Given the description of an element on the screen output the (x, y) to click on. 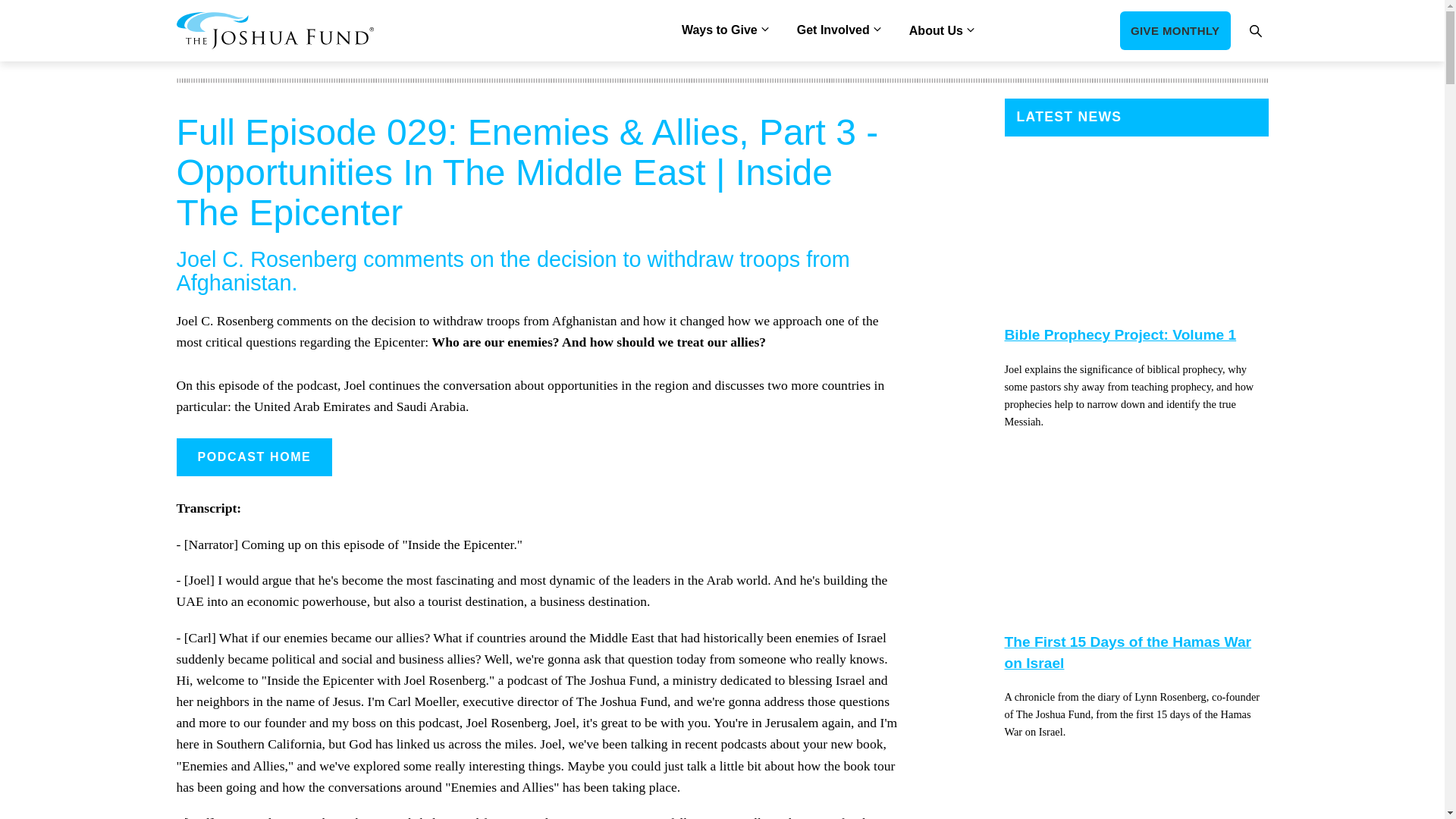
PODCAST HOME (253, 456)
GIVE MONTHLY (1174, 30)
